Given the description of an element on the screen output the (x, y) to click on. 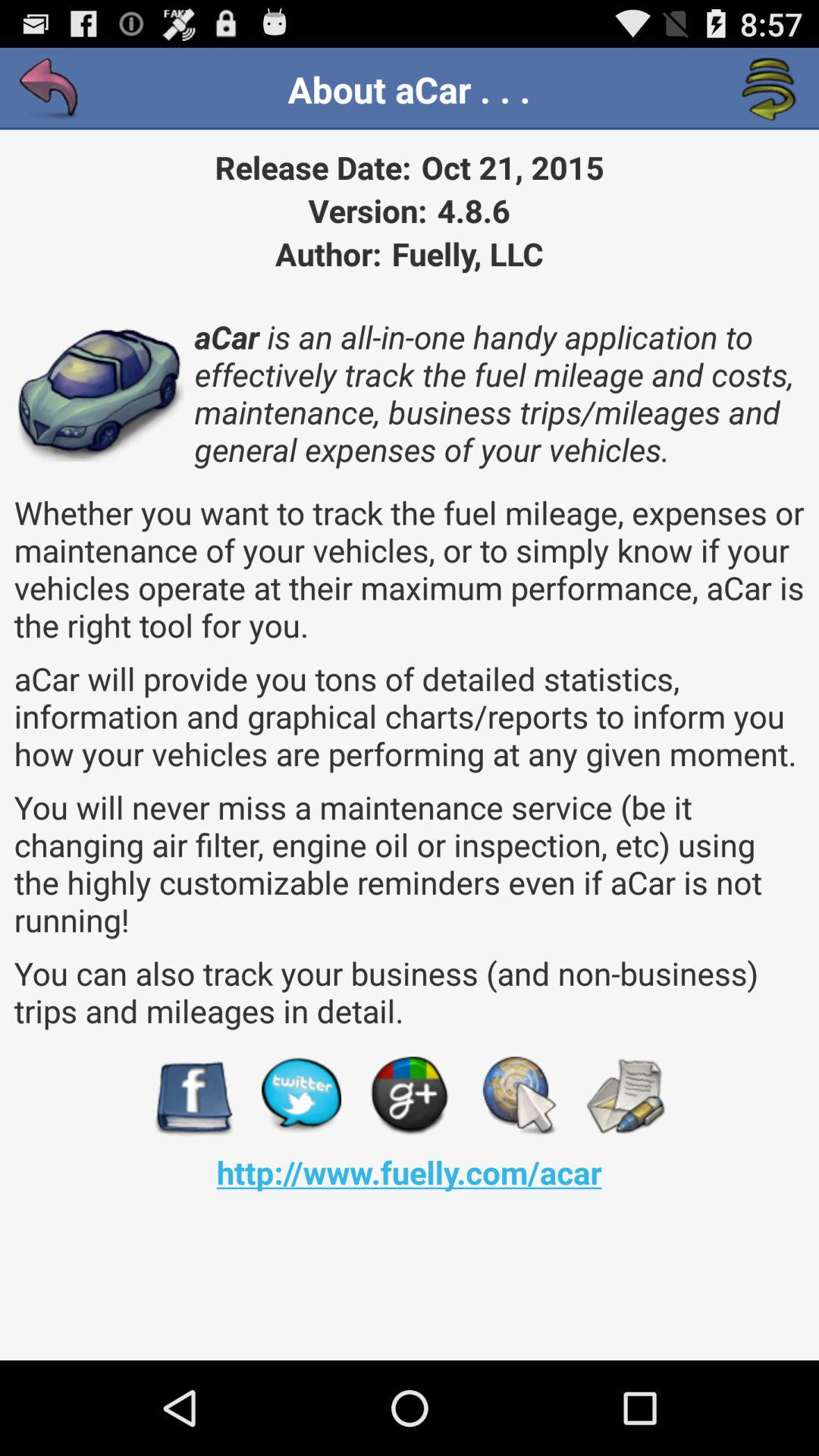
choose item below you can also app (301, 1096)
